Given the description of an element on the screen output the (x, y) to click on. 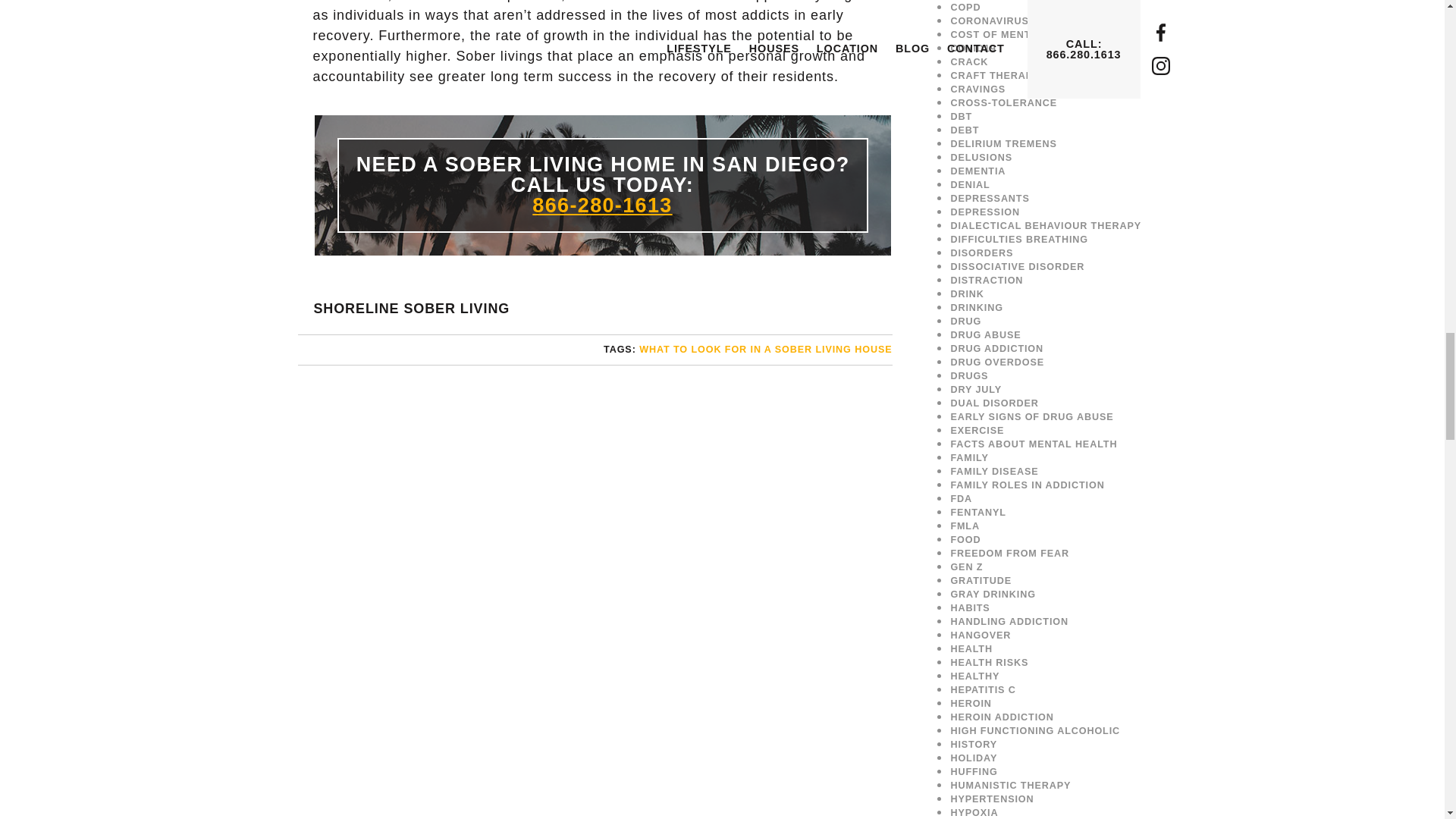
WHAT TO LOOK FOR IN A SOBER LIVING HOUSE (765, 348)
866-280-1613 (601, 205)
